Given the description of an element on the screen output the (x, y) to click on. 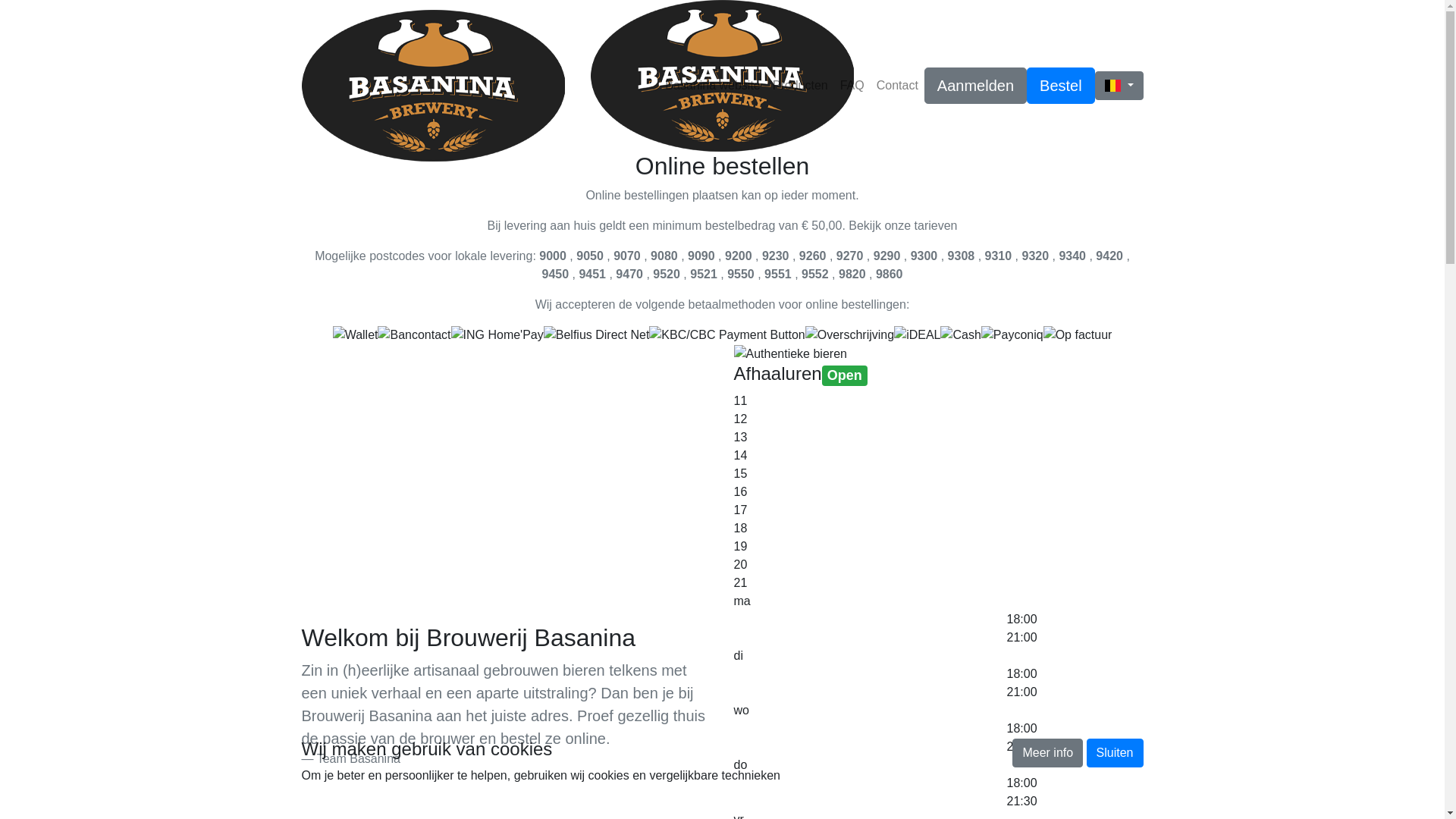
Basanina website Element type: text (711, 85)
Op factuur: Betaal op factuur Element type: hover (1077, 335)
Dutch Element type: hover (1112, 85)
Payconiq: Betaal met de Payconiq app Element type: hover (1012, 335)
iDEAL: Betaal online met iDeal Element type: hover (917, 335)
Belfius Direct Net: Betaal online met Belfius Element type: hover (596, 335)
Sluiten Element type: text (1114, 752)
Producten Element type: text (800, 85)
Cash: Betaal cash Element type: hover (960, 335)
Contact Element type: text (897, 85)
KBC/CBC Payment Button: Betaal online met KBC Element type: hover (726, 335)
Authentieke bieren Element type: hover (790, 354)
Brouwerij Basanina Element type: hover (432, 85)
Brouwerij Basanina Element type: hover (721, 75)
Meer info Element type: text (1047, 752)
FAQ Element type: text (852, 85)
Aanmelden Element type: text (975, 85)
Overschrijving: Betaal online via een SEPA overschrijving Element type: hover (849, 335)
Bestel Element type: text (1060, 85)
Wallet: Betaal met de Rakedi Wallet Element type: hover (355, 335)
